Given the description of an element on the screen output the (x, y) to click on. 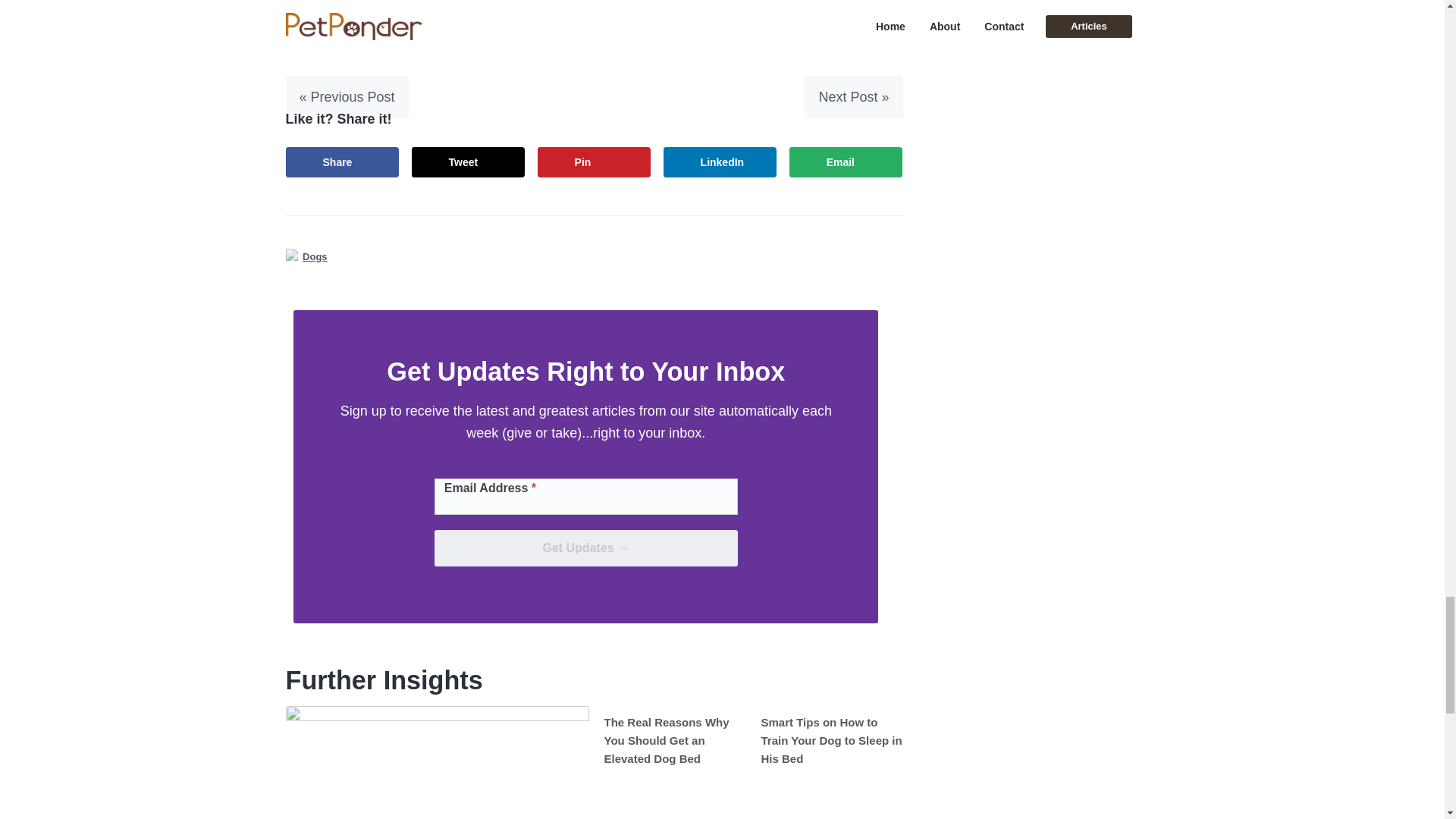
Pin (593, 162)
LinkedIn (720, 162)
Share on LinkedIn (720, 162)
Send over email (845, 162)
Email (845, 162)
Permanent Link to Best Dog Breeds for Hiking (436, 762)
Smart Tips on How to Train Your Dog to Sleep in His Bed (831, 740)
Share on X (468, 162)
Save to Pinterest (593, 162)
